Given the description of an element on the screen output the (x, y) to click on. 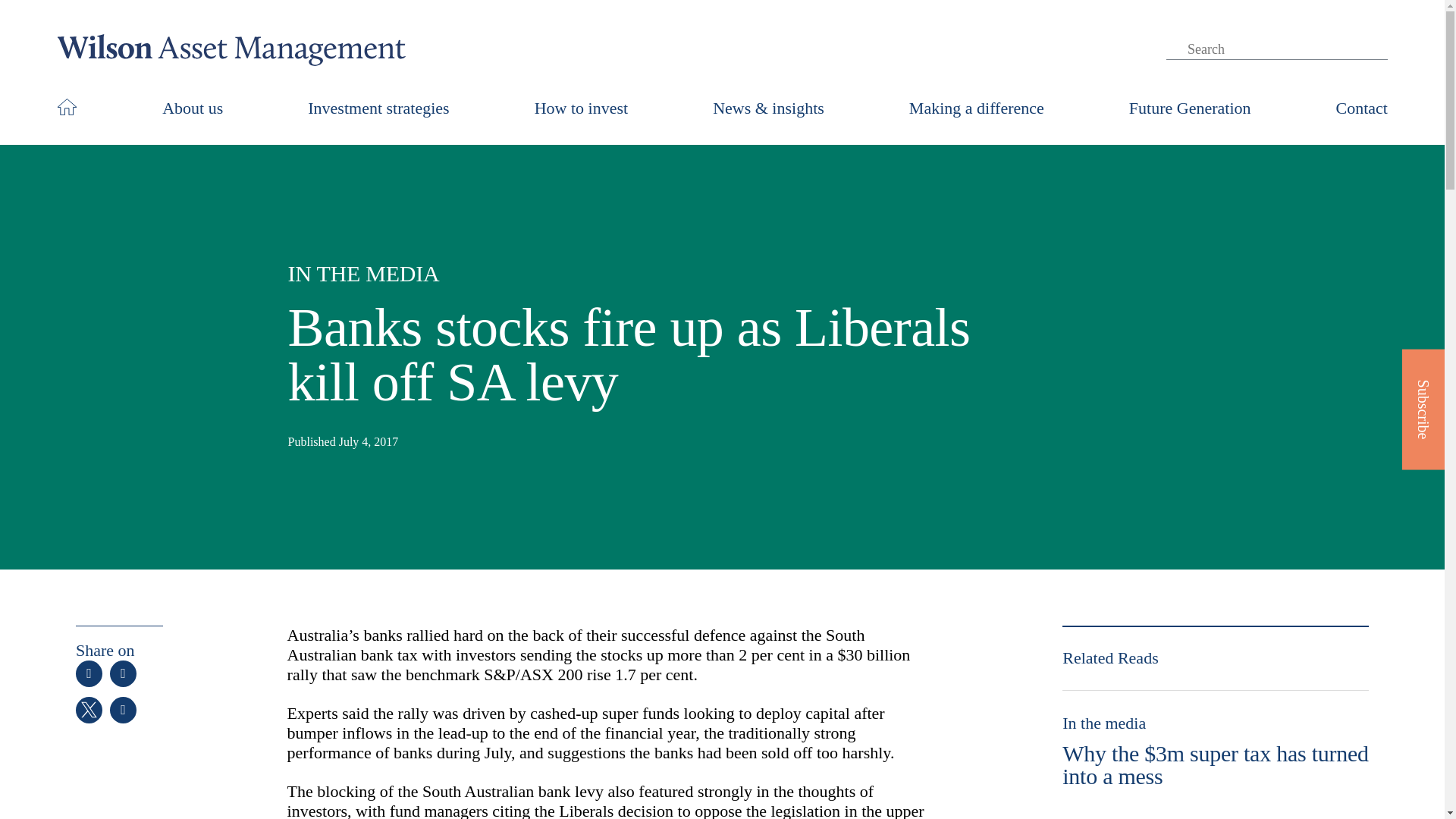
Contact (1361, 107)
Future Generation (1189, 107)
Making a difference (975, 107)
How to invest (580, 107)
Investment strategies (377, 107)
About us (191, 107)
